Given the description of an element on the screen output the (x, y) to click on. 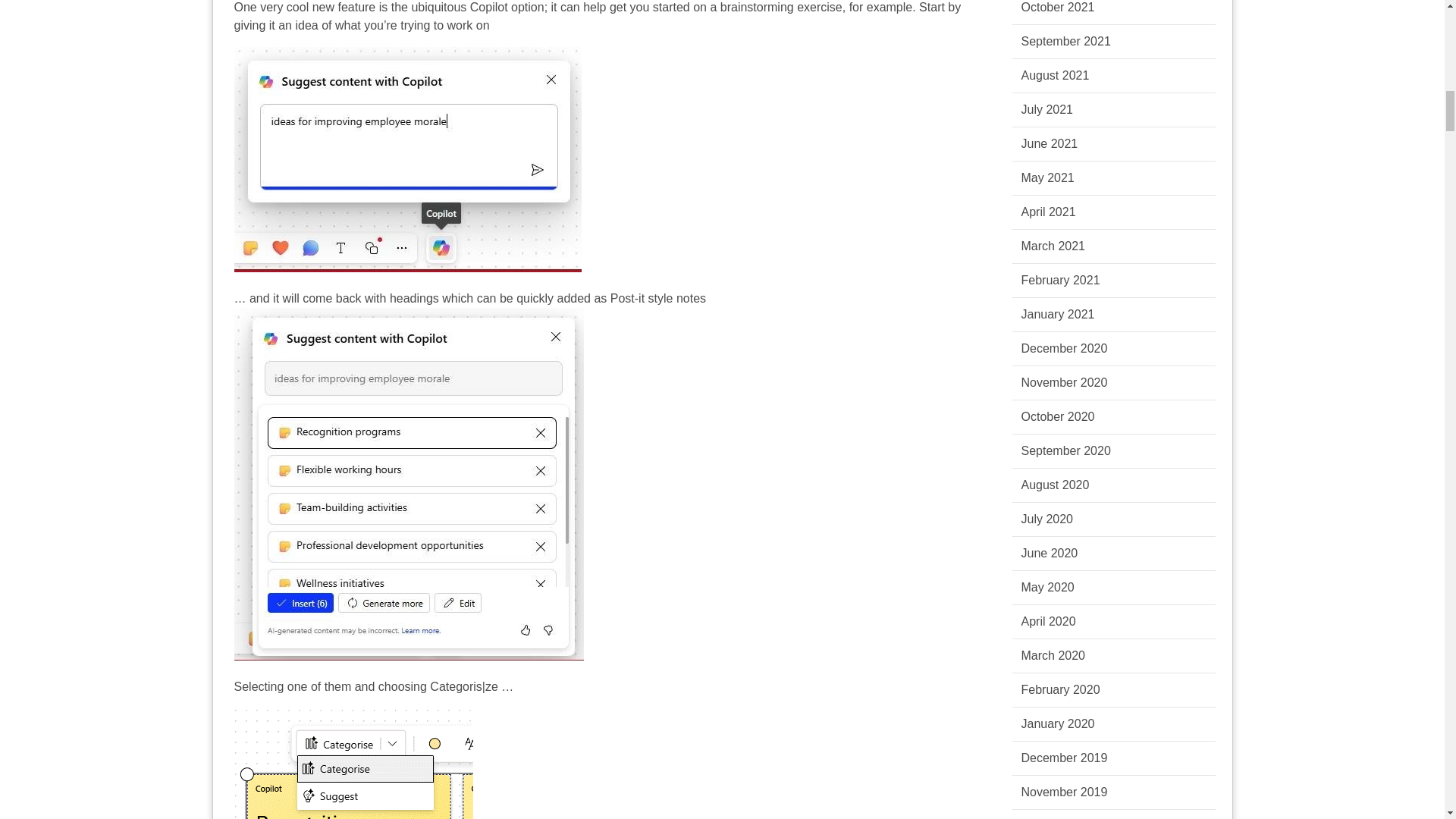
Post-it style notes (658, 297)
